Given the description of an element on the screen output the (x, y) to click on. 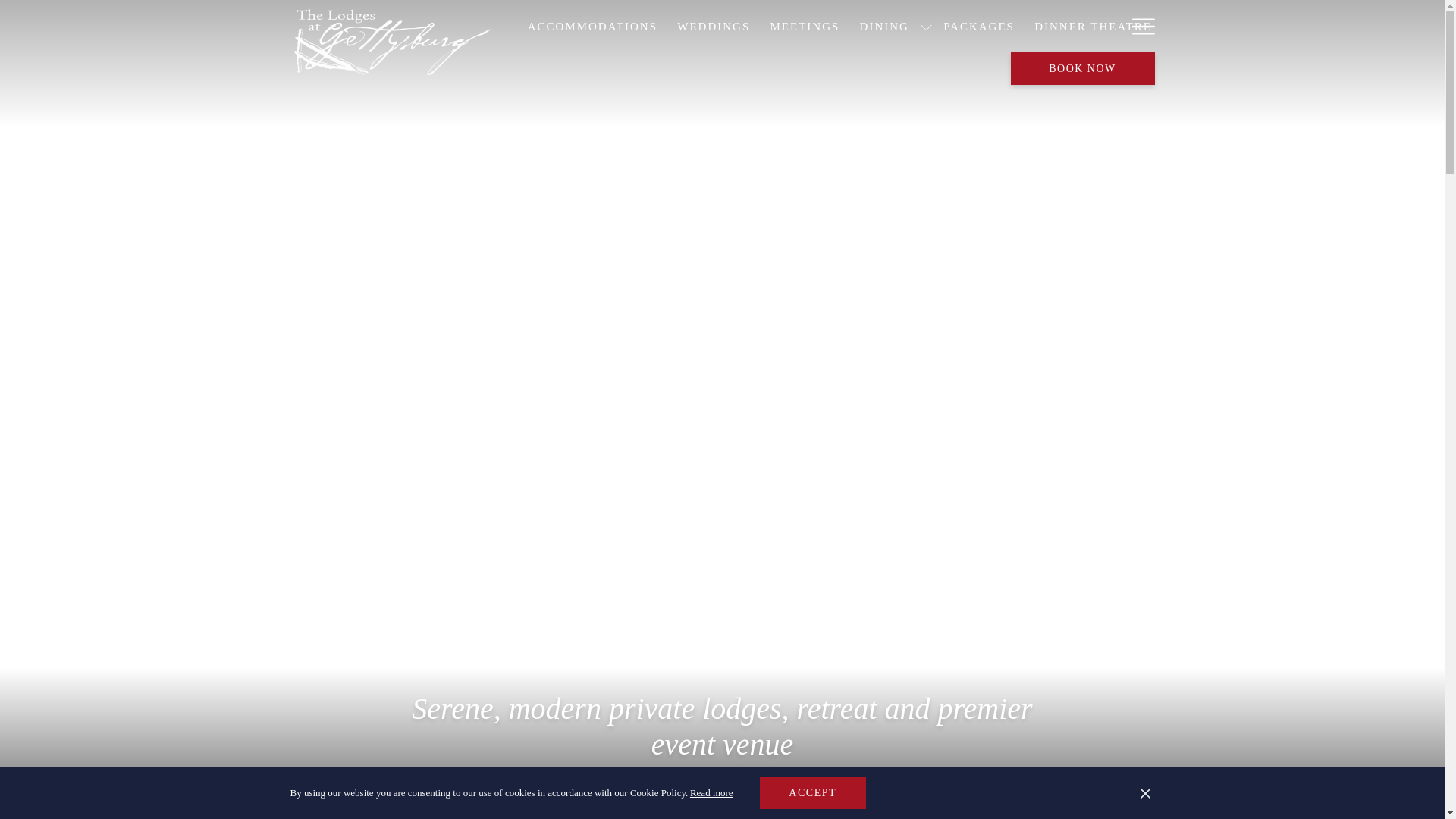
DINING (883, 26)
WEDDINGS (713, 26)
ACCEPT (813, 792)
MEETINGS (804, 26)
Read more (711, 792)
ACCOMMODATIONS (591, 26)
BOOK NOW (1082, 68)
PACKAGES (979, 26)
Back to the homepage (392, 42)
Previous (1109, 794)
Pause slideshow (1129, 794)
Next (1147, 794)
Menu (1142, 26)
DINNER THEATRE (1093, 26)
